Given the description of an element on the screen output the (x, y) to click on. 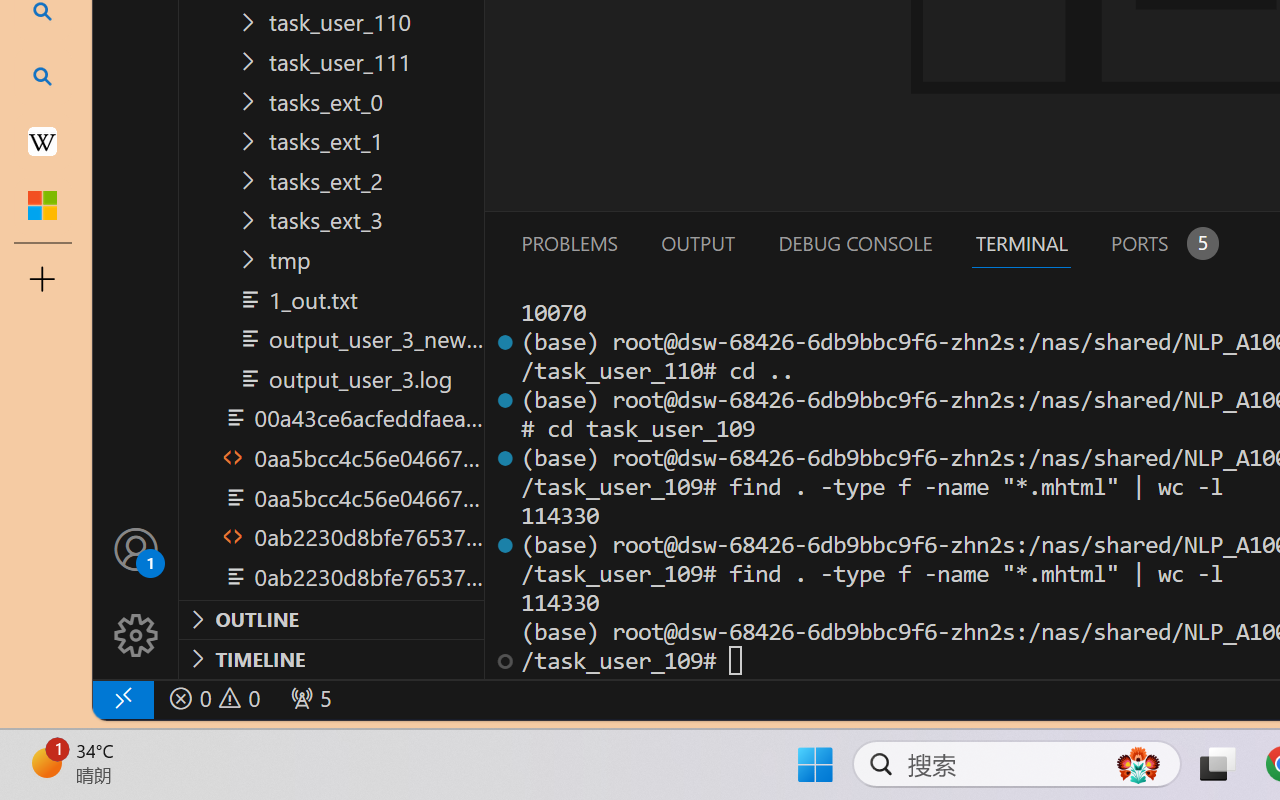
Output (Ctrl+Shift+U) (696, 243)
Ports - 5 forwarded ports (1162, 243)
Earth - Wikipedia (42, 140)
Manage (135, 635)
